Given the description of an element on the screen output the (x, y) to click on. 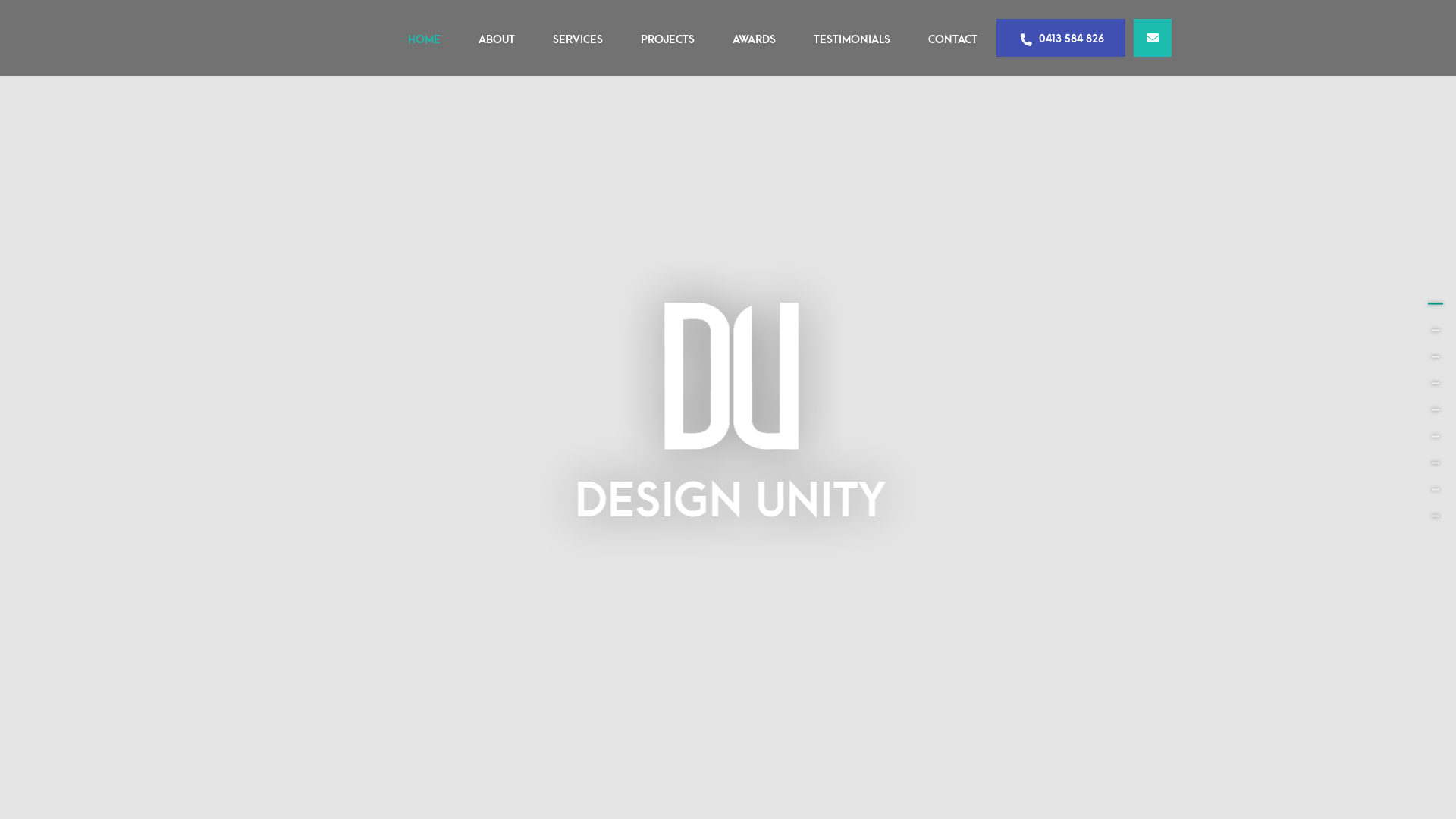
Design Unity Element type: hover (728, 407)
ABOUT Element type: text (496, 39)
0413 584 826 Element type: text (1060, 37)
AWARDS Element type: text (753, 39)
CONTACT Element type: text (952, 39)
PROJECTS Element type: text (667, 39)
info@designunity.com.au Element type: hover (1152, 37)
HOME Element type: text (423, 39)
SERVICES Element type: text (577, 39)
TESTIMONIALS Element type: text (851, 39)
